Given the description of an element on the screen output the (x, y) to click on. 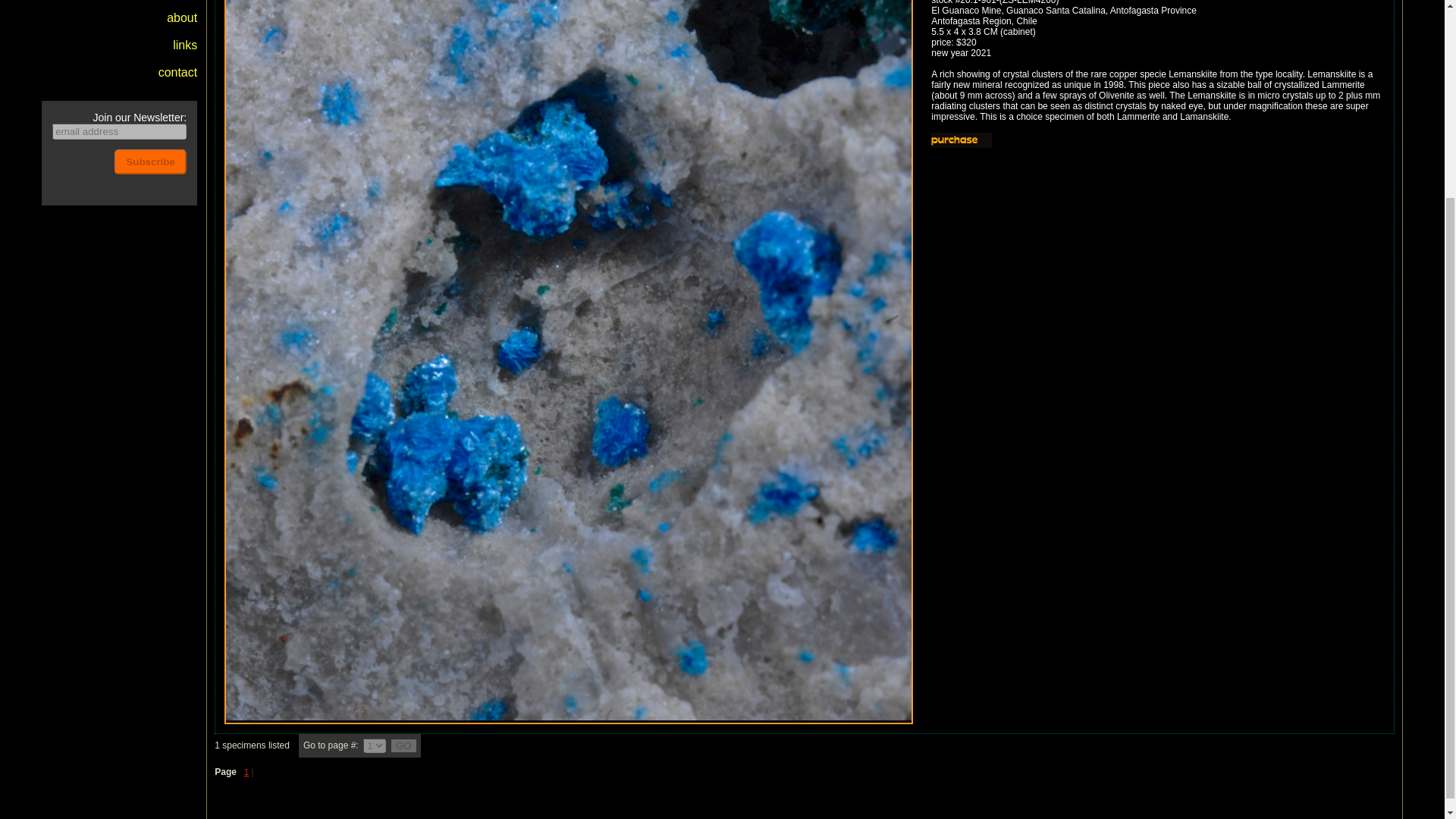
Subscribe (150, 161)
GO (403, 745)
contact (178, 72)
GO (403, 745)
links (184, 44)
Join our Newsletter: (119, 152)
Subscribe (150, 161)
about (181, 17)
